Given the description of an element on the screen output the (x, y) to click on. 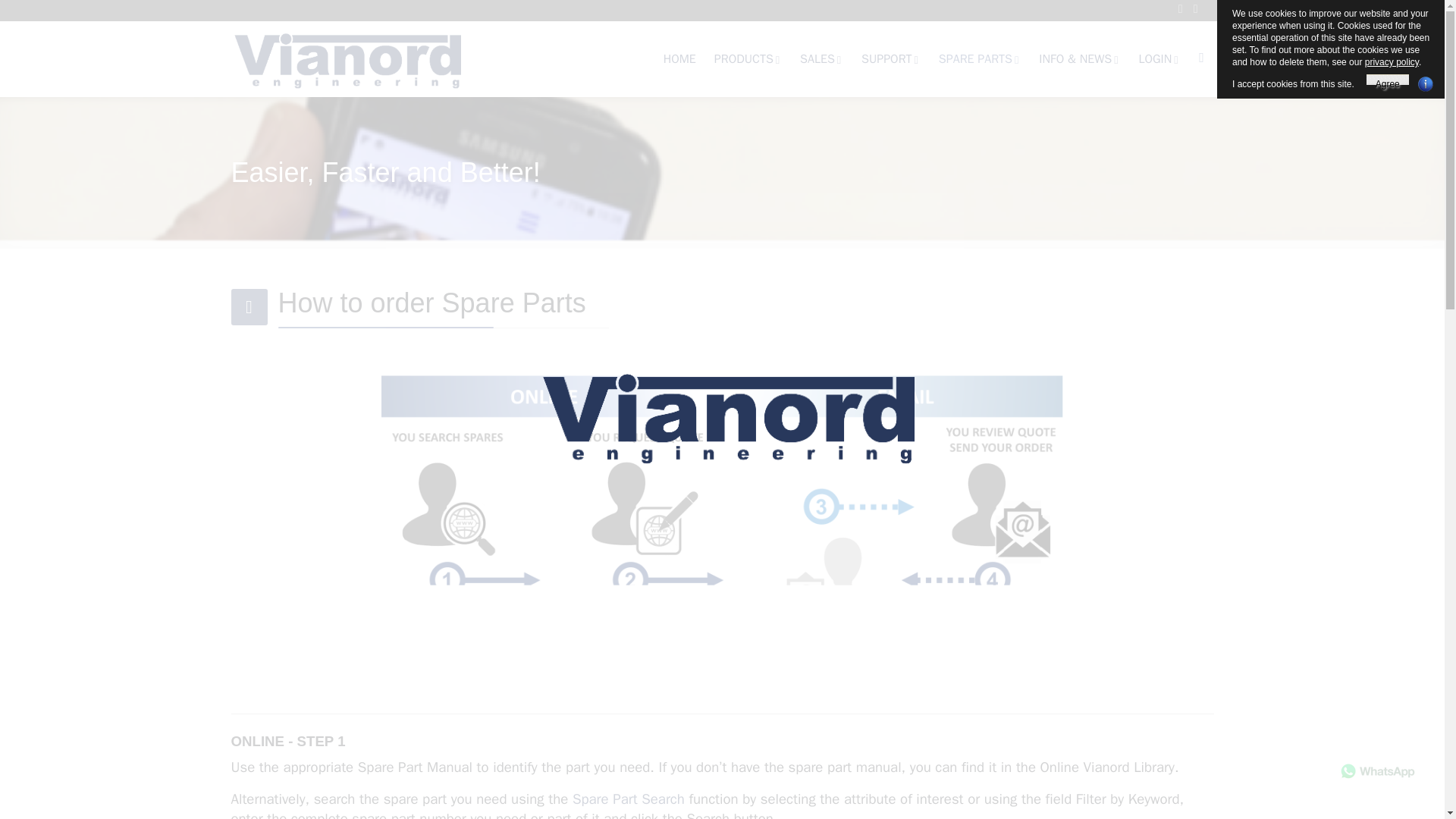
Menu (1200, 57)
PRODUCTS (747, 59)
View our privacy policy page (1391, 61)
Spare Part Search (628, 799)
EU Cookie Directive plugin by www.channeldigital.co.uk (1425, 83)
SPARE PARTS (979, 59)
SUPPORT (890, 59)
